Given the description of an element on the screen output the (x, y) to click on. 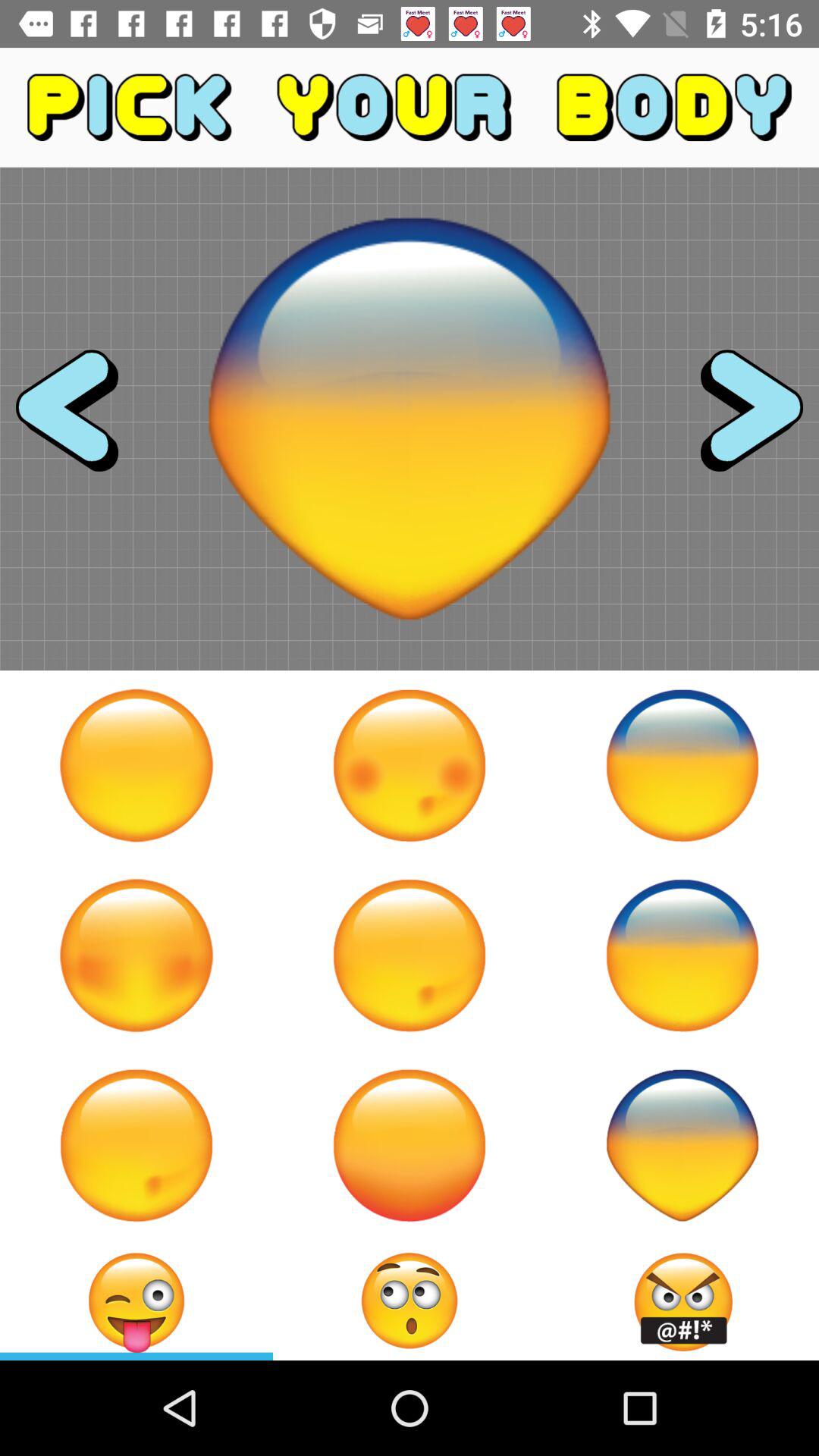
select to pick (409, 955)
